Given the description of an element on the screen output the (x, y) to click on. 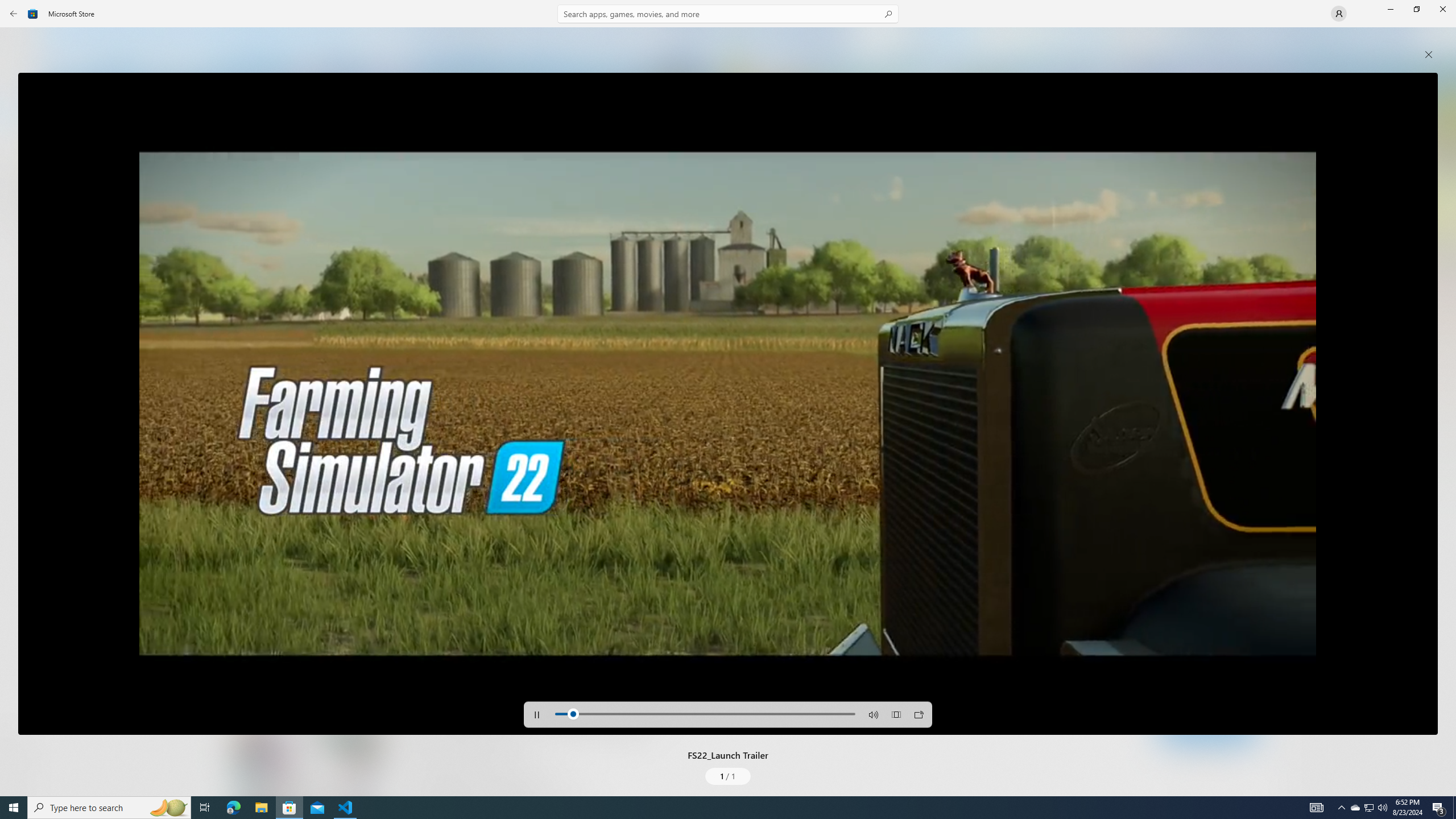
Gaming (20, 115)
Buy as gift (1245, 669)
GIANTS Software GmbH (427, 510)
AutomationID: NavigationControl (728, 398)
Restore Microsoft Store (1416, 9)
Close Microsoft Store (1442, 9)
4.3 stars. Click to skip to ratings and reviews (392, 541)
FS22_Launch Trailer (727, 403)
2022 (379, 510)
What's New (20, 738)
Arcade (20, 150)
Share (1267, 669)
Library (20, 773)
Pause (536, 713)
